Given the description of an element on the screen output the (x, y) to click on. 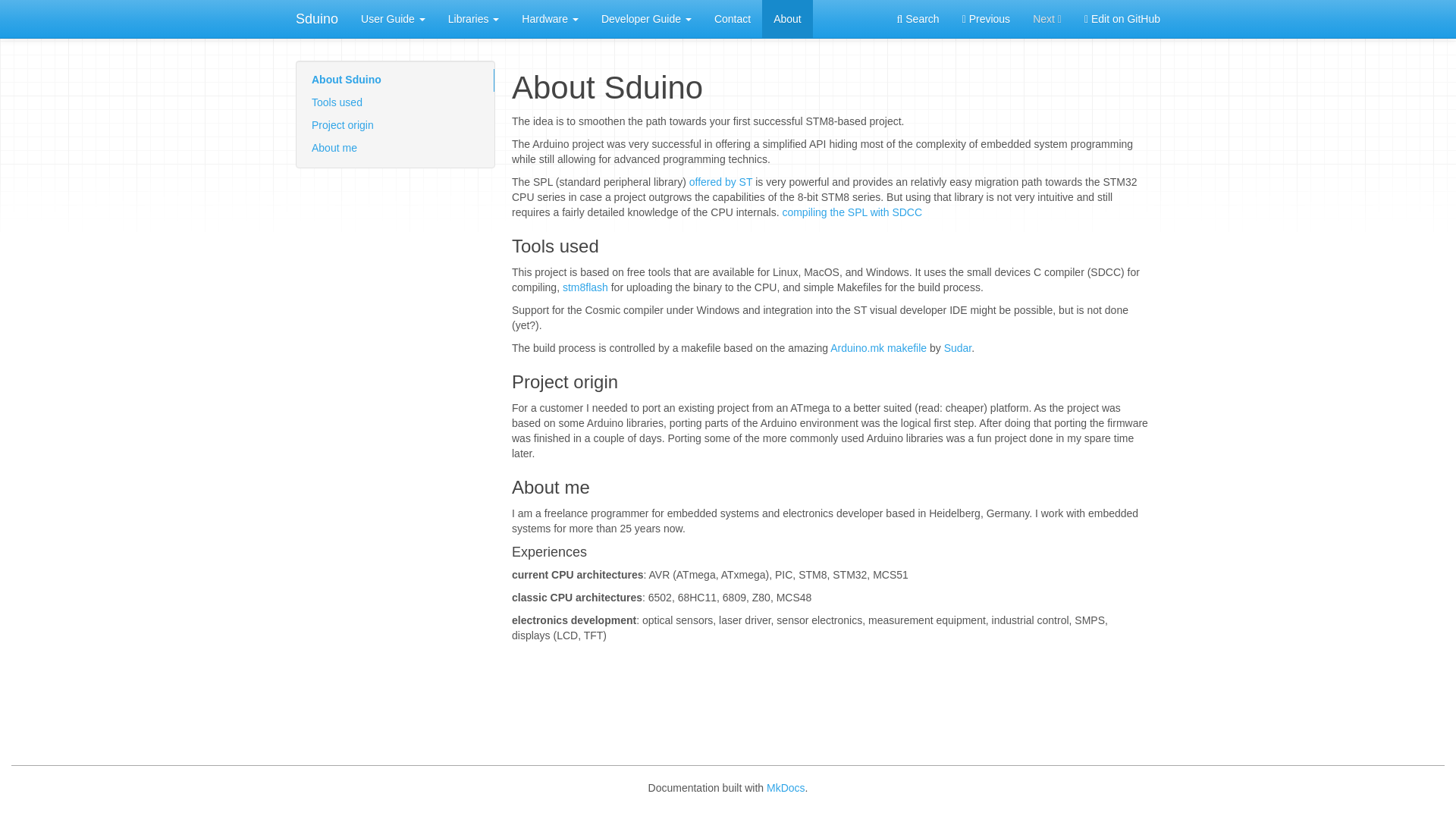
User Guide (392, 18)
Developer Guide (646, 18)
Libraries (473, 18)
Sduino (316, 18)
Hardware (550, 18)
